Given the description of an element on the screen output the (x, y) to click on. 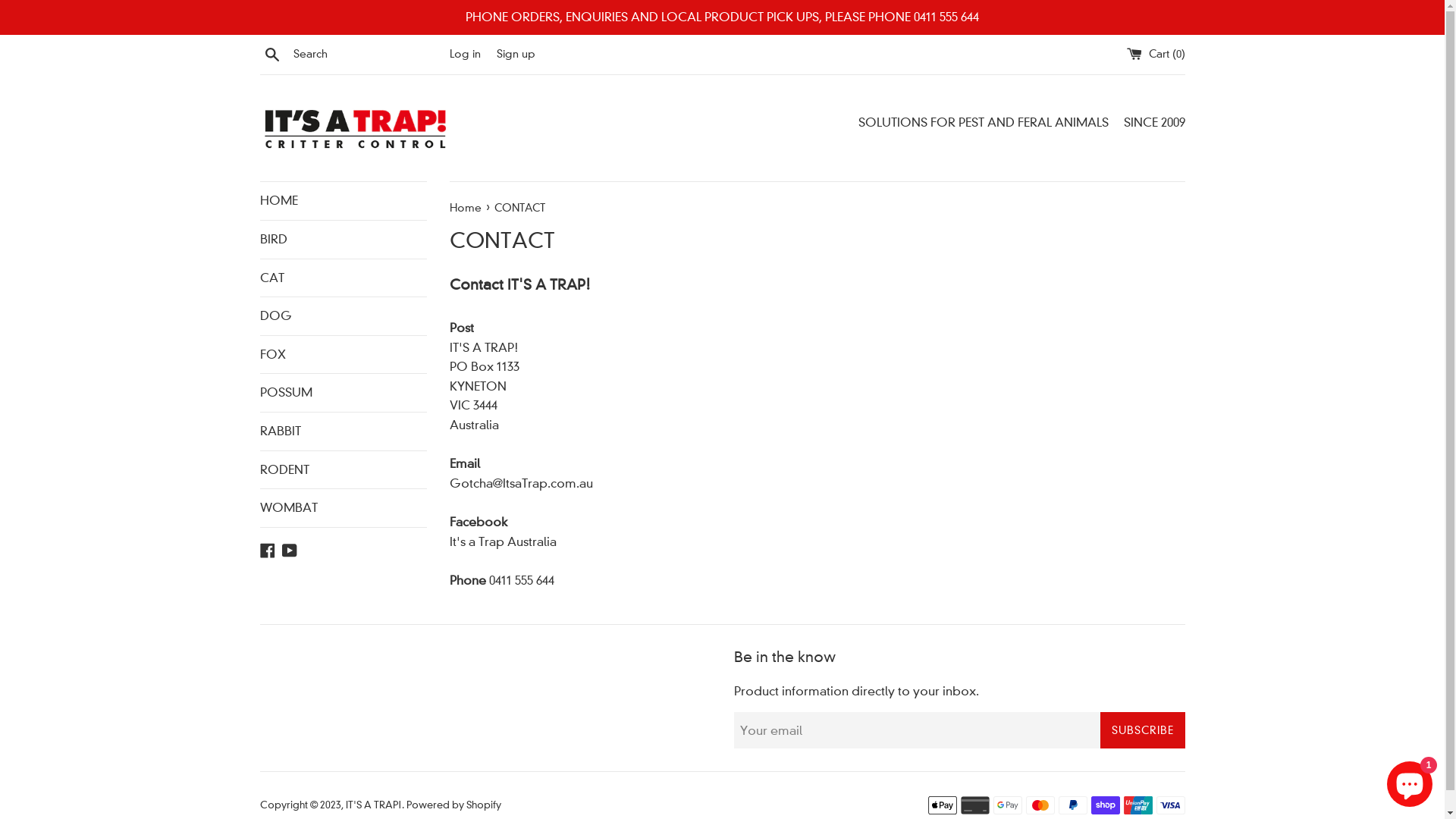
CAT Element type: text (342, 278)
FOX Element type: text (342, 354)
HOME Element type: text (342, 200)
Log in Element type: text (464, 53)
RODENT Element type: text (342, 469)
Search Element type: text (271, 53)
Home Element type: text (465, 207)
IT'S A TRAP! Element type: text (373, 804)
POSSUM Element type: text (342, 392)
YouTube Element type: text (289, 549)
RABBIT Element type: text (342, 431)
WOMBAT Element type: text (342, 508)
DOG Element type: text (342, 316)
BIRD Element type: text (342, 239)
Facebook Element type: text (266, 549)
SUBSCRIBE Element type: text (1141, 730)
Shopify online store chat Element type: hover (1409, 780)
Cart (0) Element type: text (1155, 53)
Powered by Shopify Element type: text (453, 804)
Sign up Element type: text (514, 53)
